Given the description of an element on the screen output the (x, y) to click on. 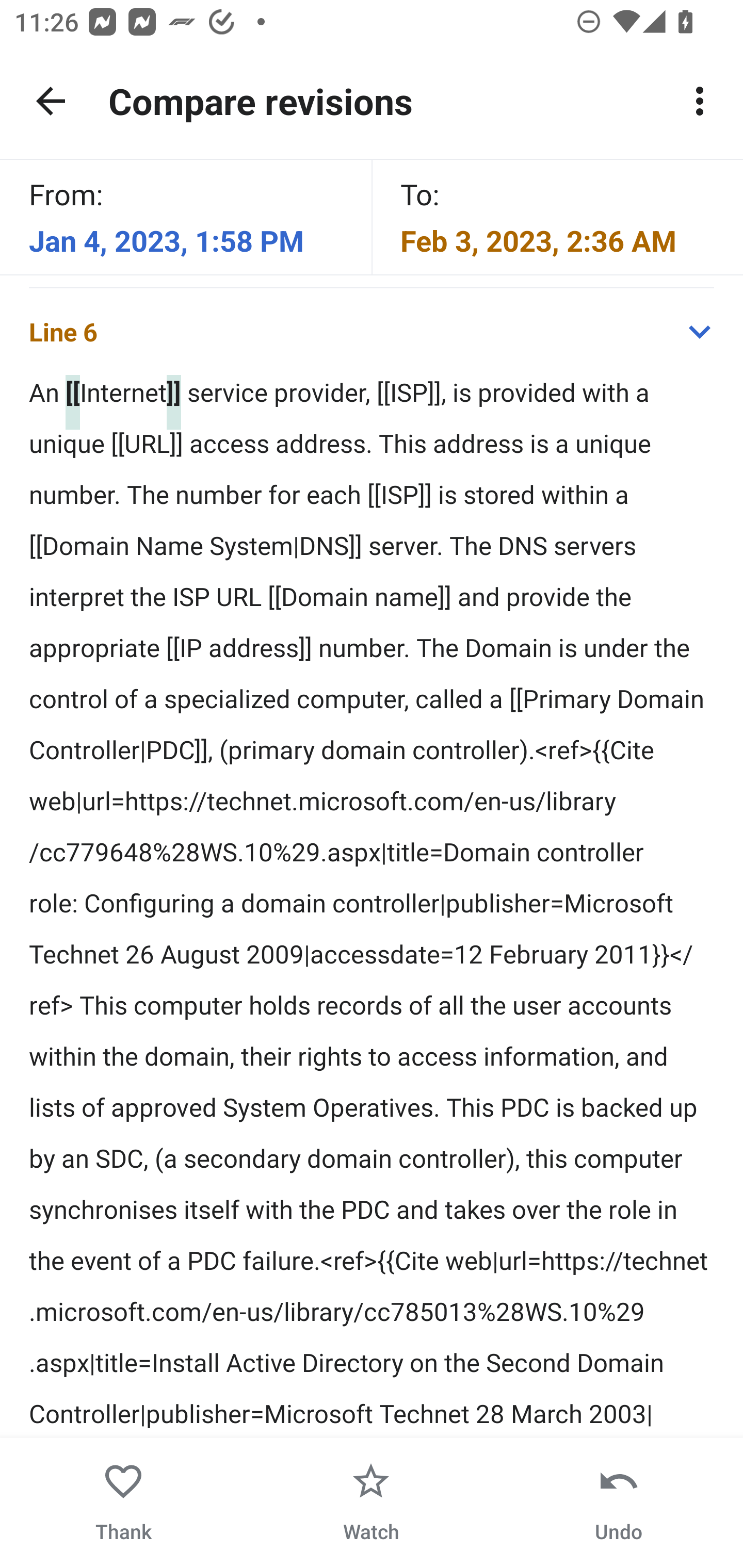
Navigate up (50, 101)
More options (699, 101)
Lines 4–5 (371, 243)
Line 6 (371, 331)
Thank (123, 1502)
Watch (370, 1502)
Undo (618, 1502)
